Given the description of an element on the screen output the (x, y) to click on. 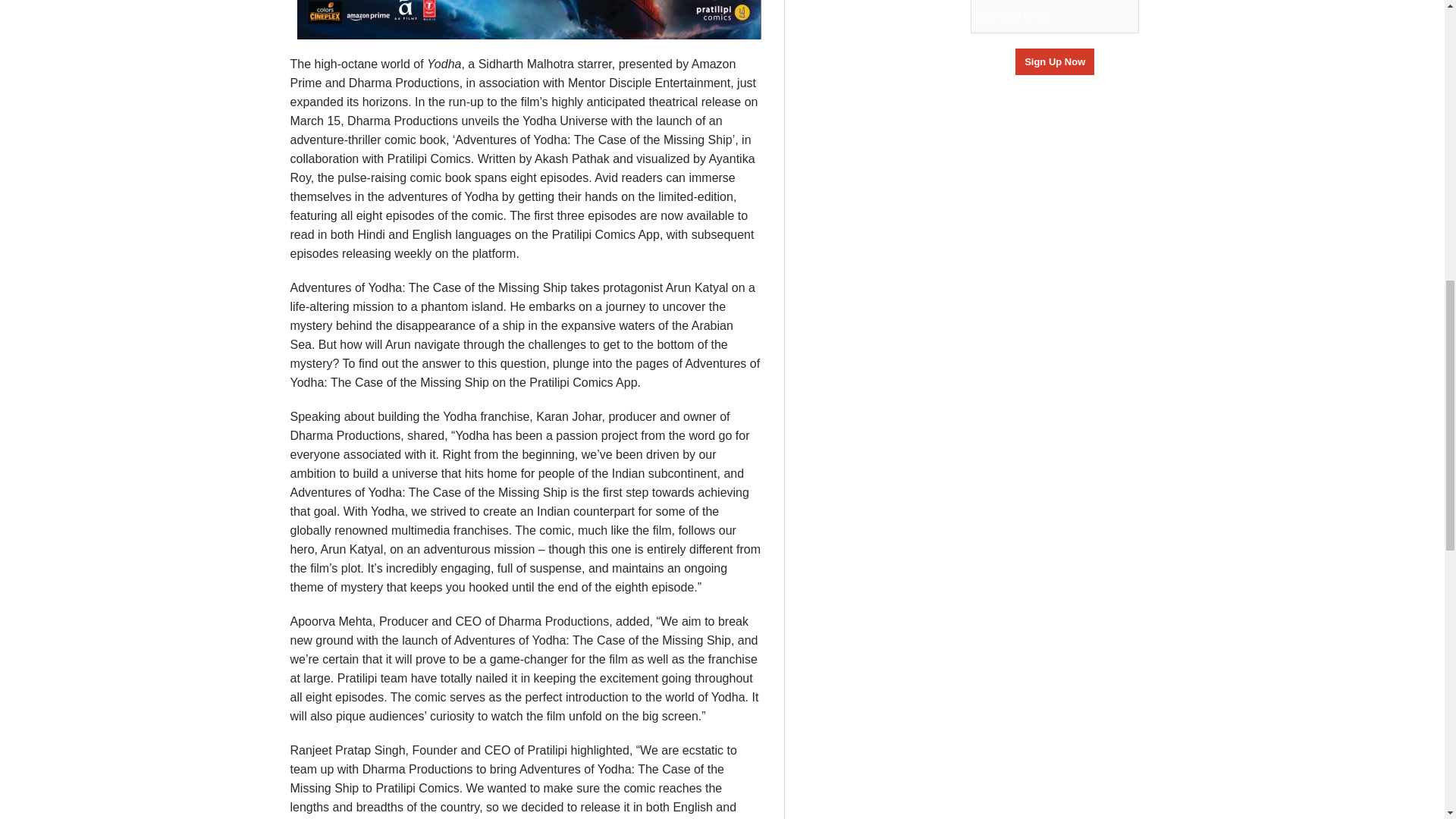
Sign Up Now (1054, 61)
